Given the description of an element on the screen output the (x, y) to click on. 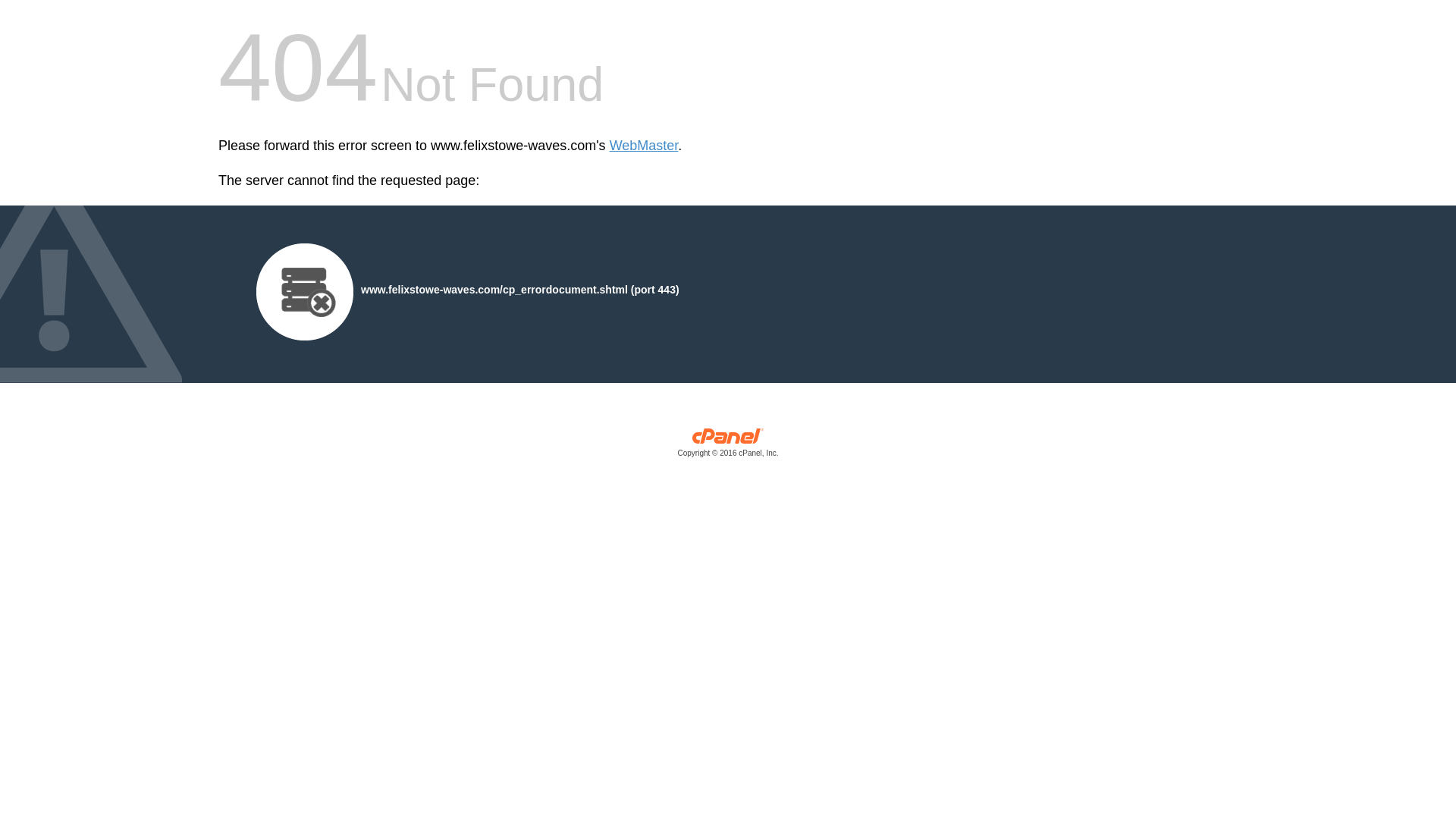
WebMaster (644, 145)
cPanel, Inc. (727, 446)
